Given the description of an element on the screen output the (x, y) to click on. 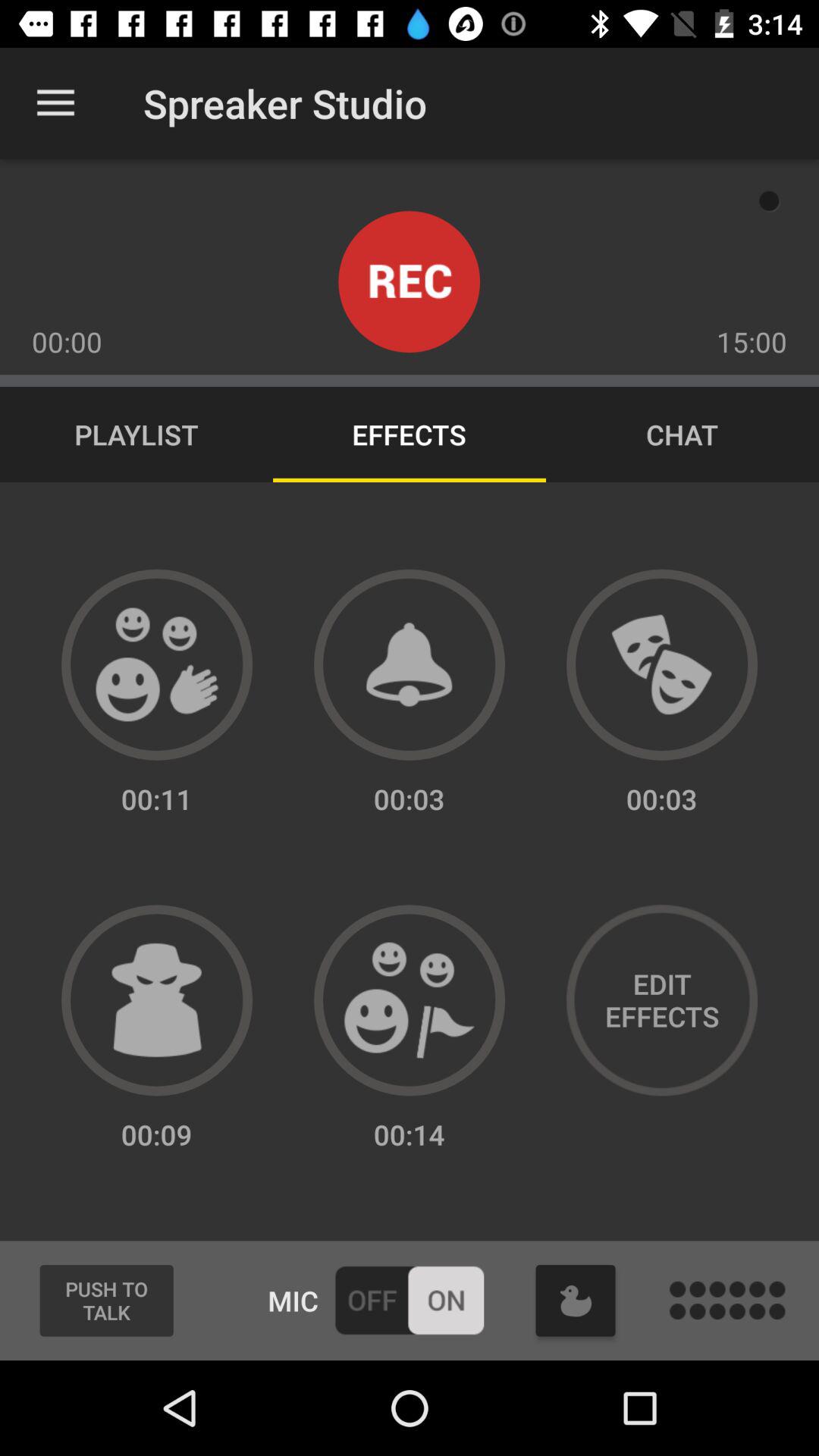
rec (409, 281)
